Given the description of an element on the screen output the (x, y) to click on. 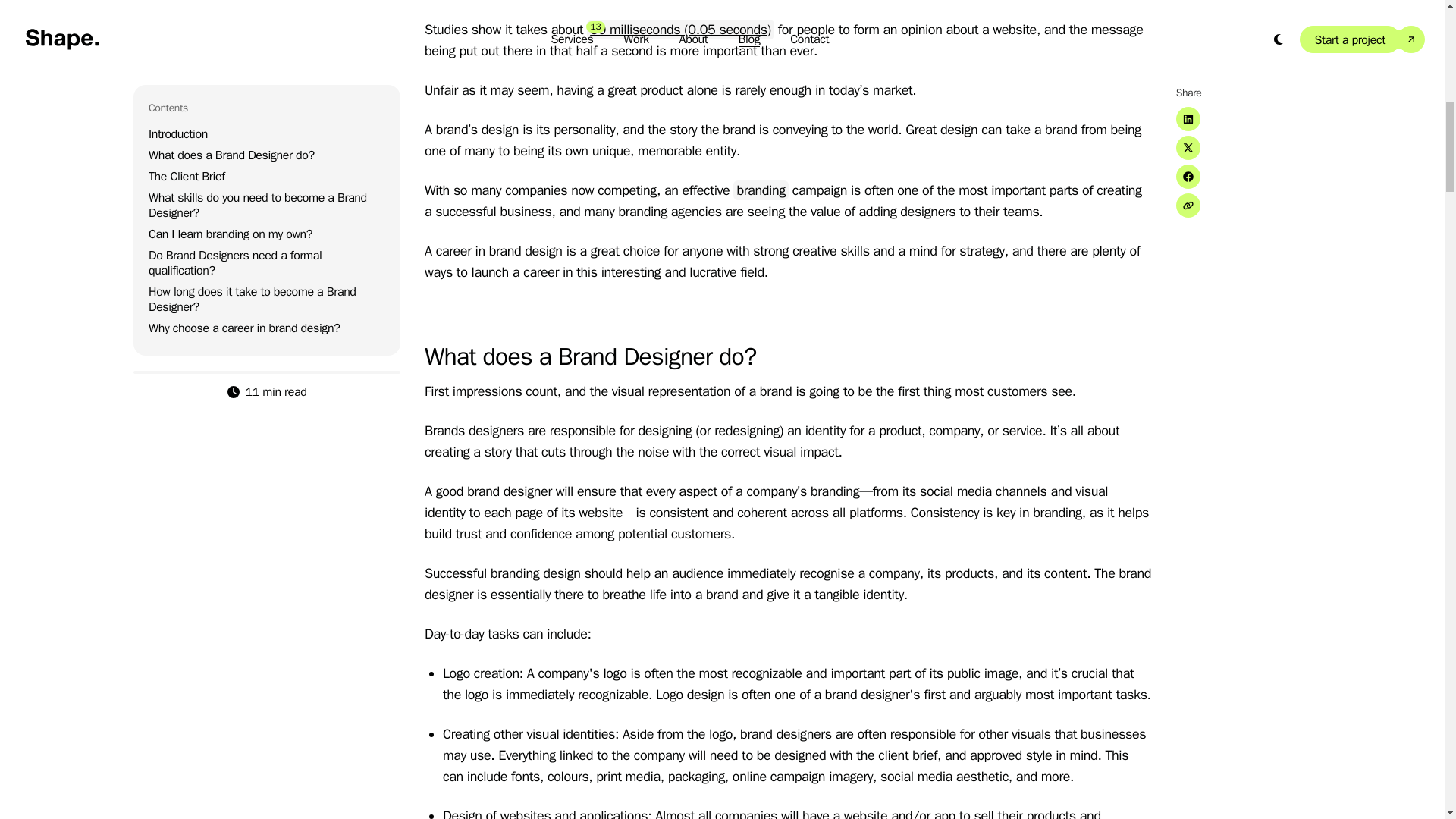
How long does it take to become a Brand Designer? (252, 81)
Do Brand Designers need a formal qualification? (234, 44)
Can I learn branding on my own? (230, 15)
Why choose a career in brand design? (243, 109)
